Given the description of an element on the screen output the (x, y) to click on. 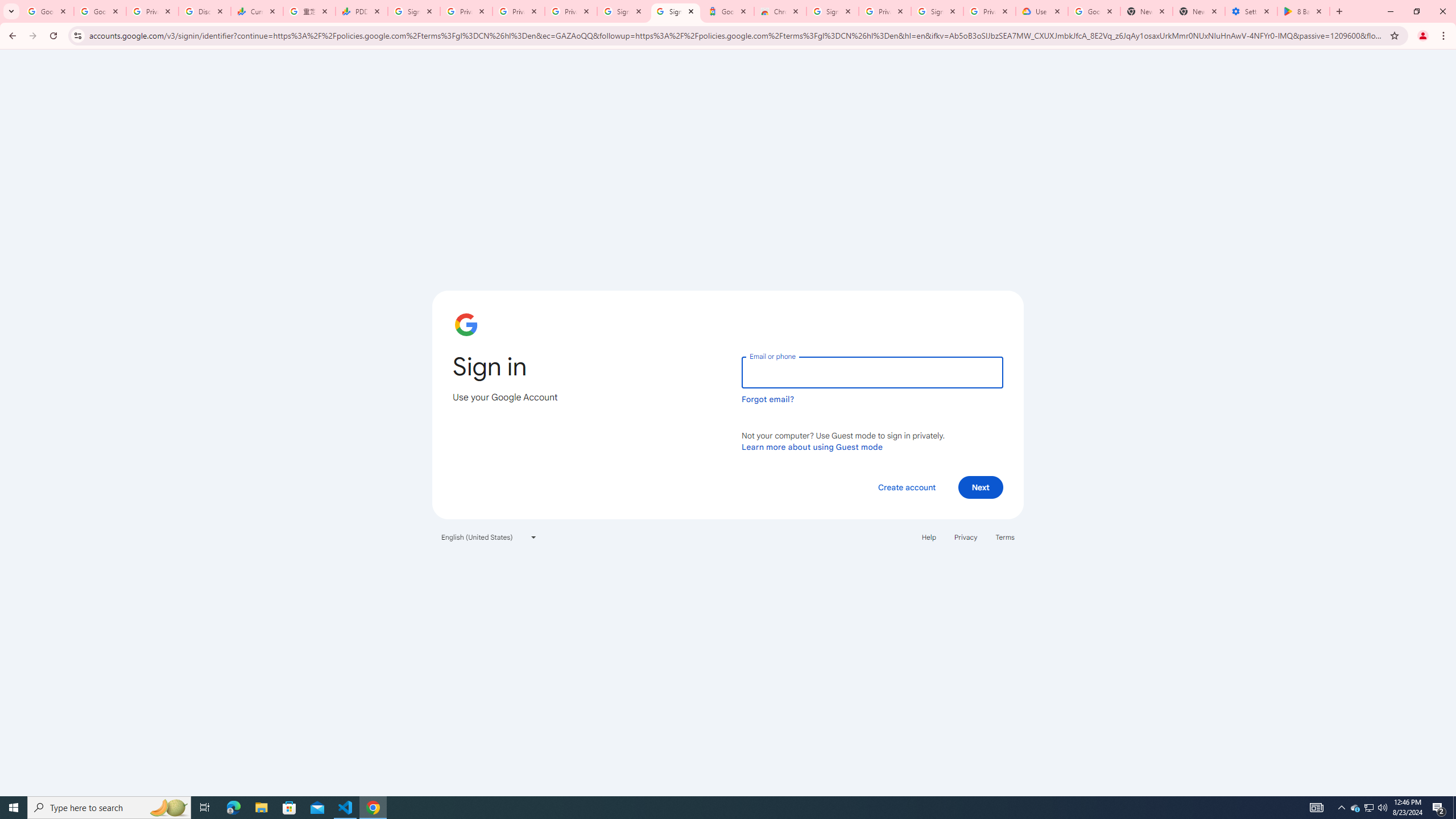
Email or phone (871, 372)
Sign in - Google Accounts (623, 11)
Forgot email? (767, 398)
Chrome Web Store - Color themes by Chrome (779, 11)
Privacy Checkup (571, 11)
Sign in - Google Accounts (413, 11)
Privacy Checkup (518, 11)
